Given the description of an element on the screen output the (x, y) to click on. 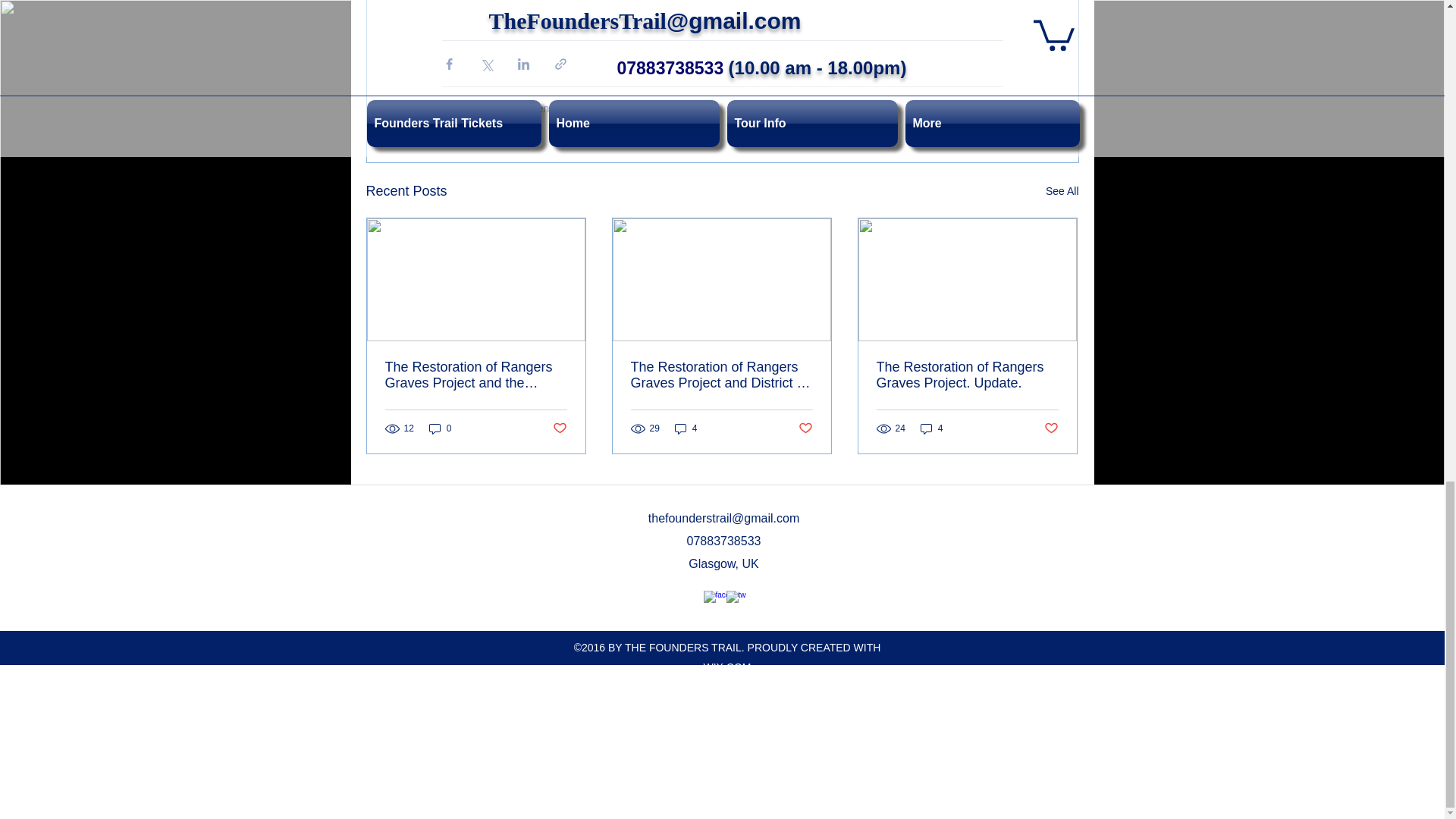
Post not marked as liked (558, 428)
0 (440, 428)
Post not marked as liked (804, 428)
Post not marked as liked (1050, 428)
4 (931, 428)
The Restoration of Rangers Graves Project. Update. (967, 375)
See All (1061, 191)
4 (685, 428)
